Given the description of an element on the screen output the (x, y) to click on. 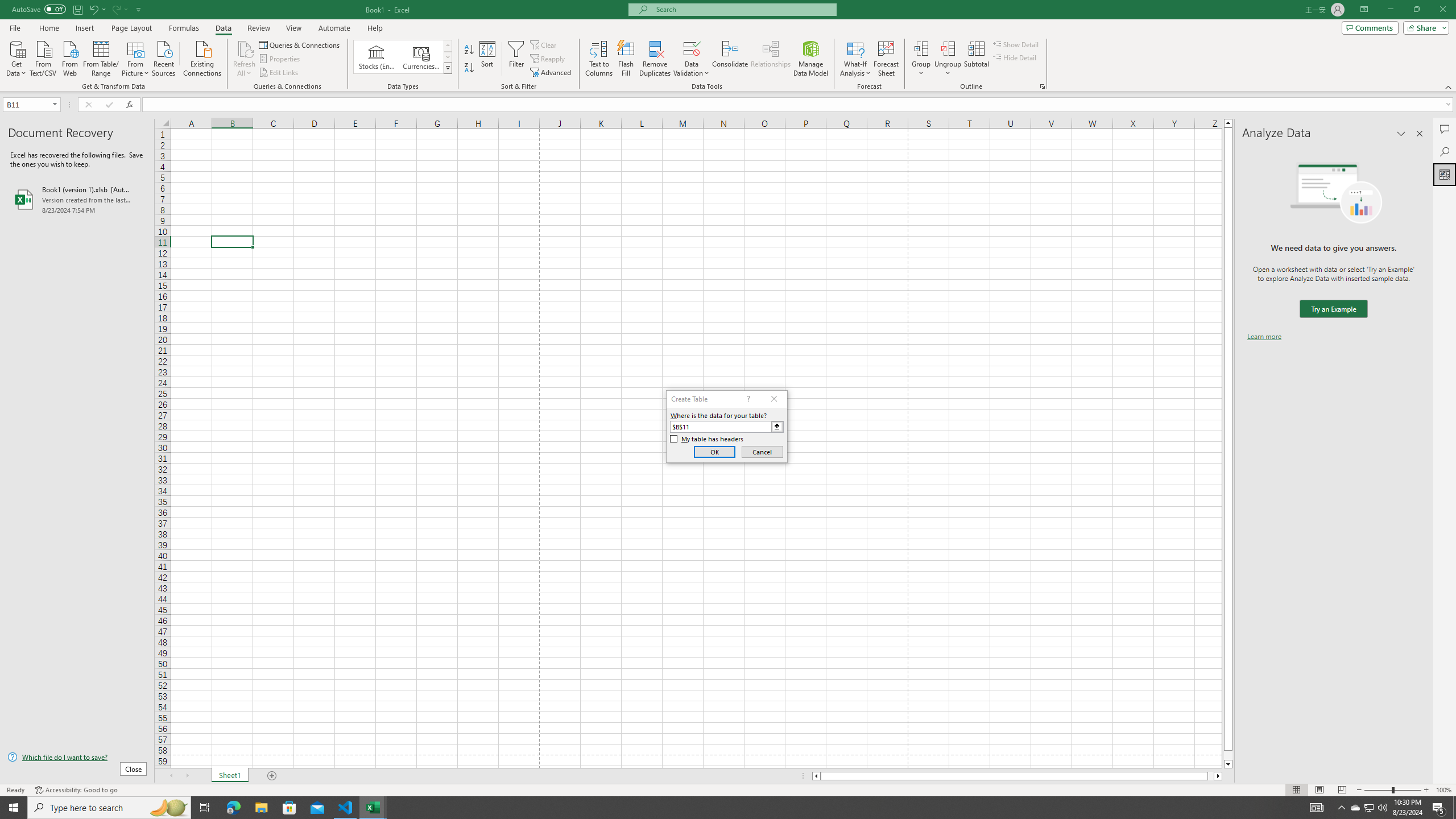
Show Detail (1016, 44)
